Given the description of an element on the screen output the (x, y) to click on. 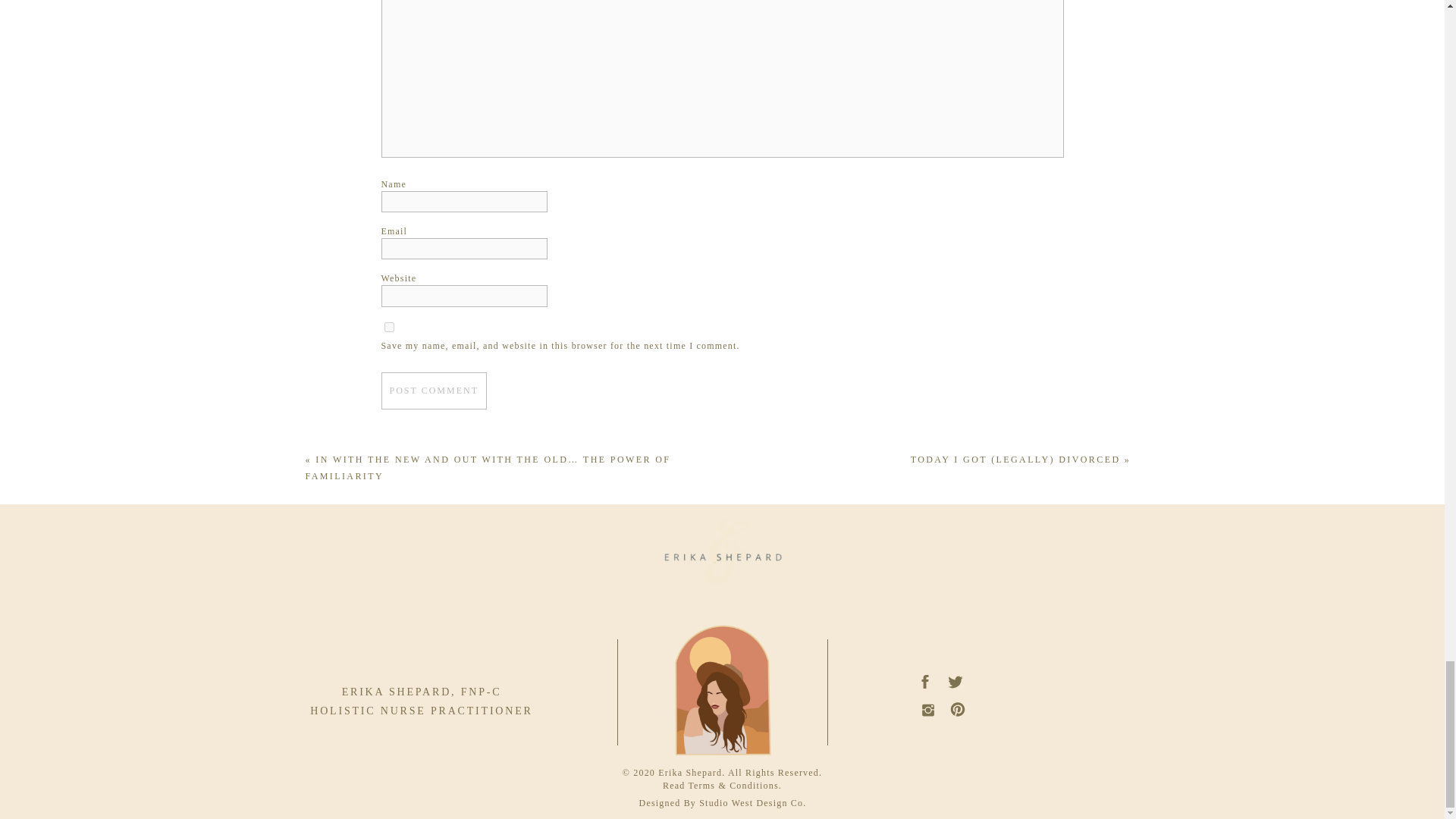
Post Comment (433, 390)
Designed By Studio West Design Co. (722, 802)
Post Comment (433, 390)
yes (388, 327)
